Given the description of an element on the screen output the (x, y) to click on. 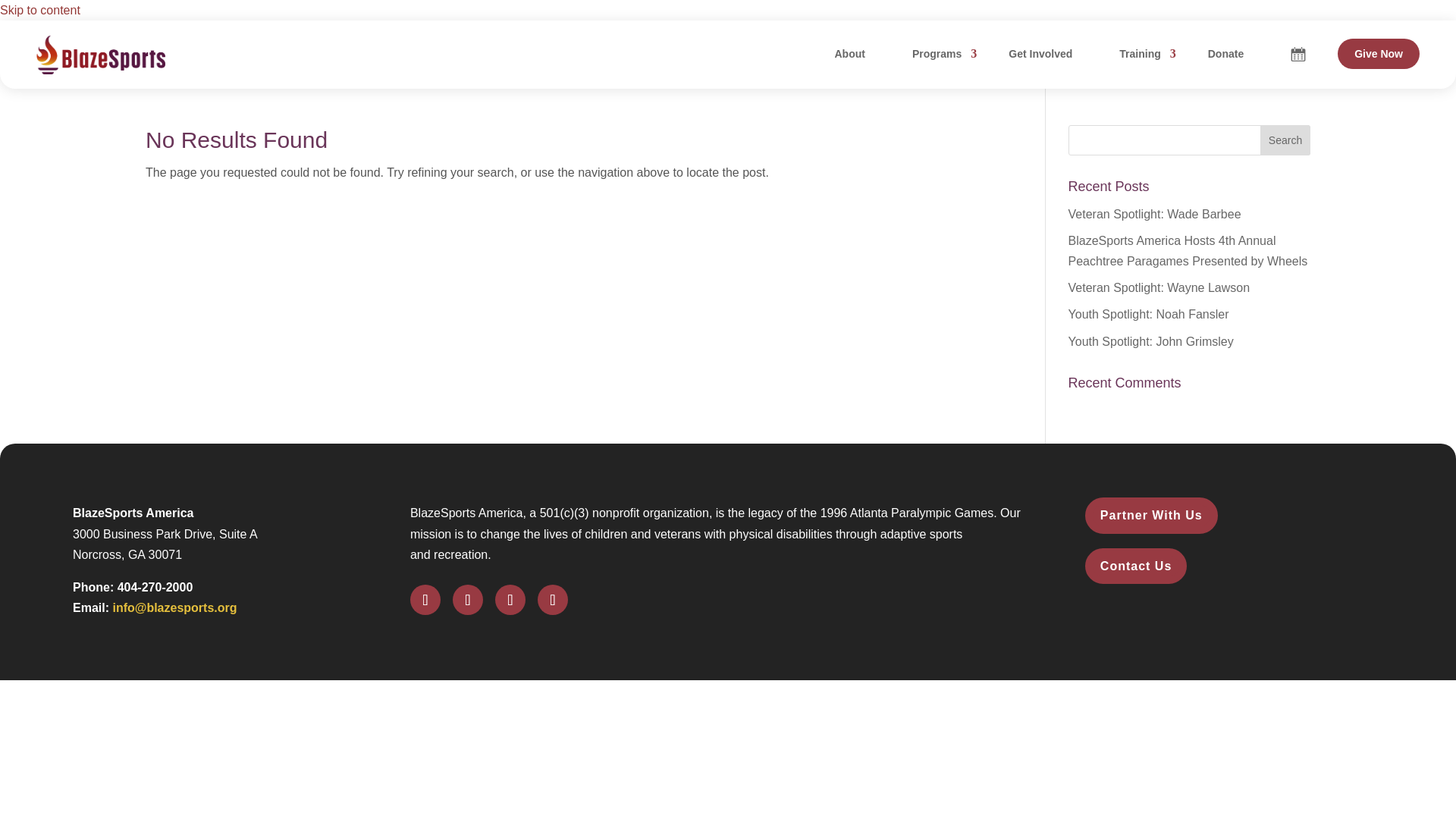
Follow on X (467, 599)
Follow on Youtube (552, 599)
Search (1285, 140)
About (848, 53)
Get Involved (1039, 53)
Programs (936, 53)
Training (1138, 53)
Follow on Instagram (510, 599)
Skip to content (40, 10)
Donate (1225, 53)
Follow on Facebook (425, 599)
Give Now (1378, 53)
